Given the description of an element on the screen output the (x, y) to click on. 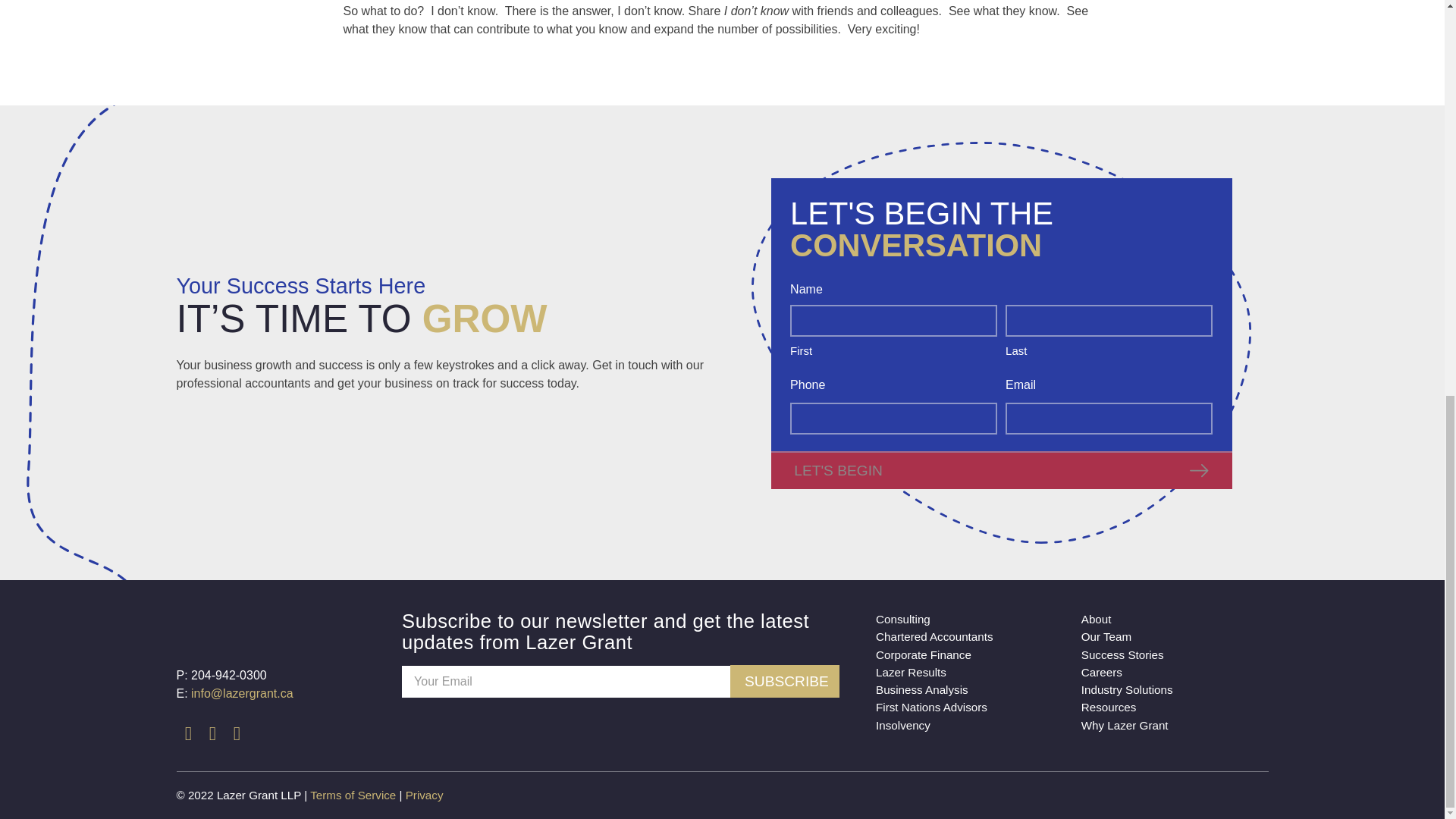
Subscribe (785, 681)
Lazer Results (912, 671)
Let's Begin (1000, 469)
Let's Begin (1000, 469)
Subscribe (785, 681)
Corporate Finance (925, 654)
Consulting (904, 619)
Business Analysis (923, 689)
Chartered Accountants (935, 636)
